Given the description of an element on the screen output the (x, y) to click on. 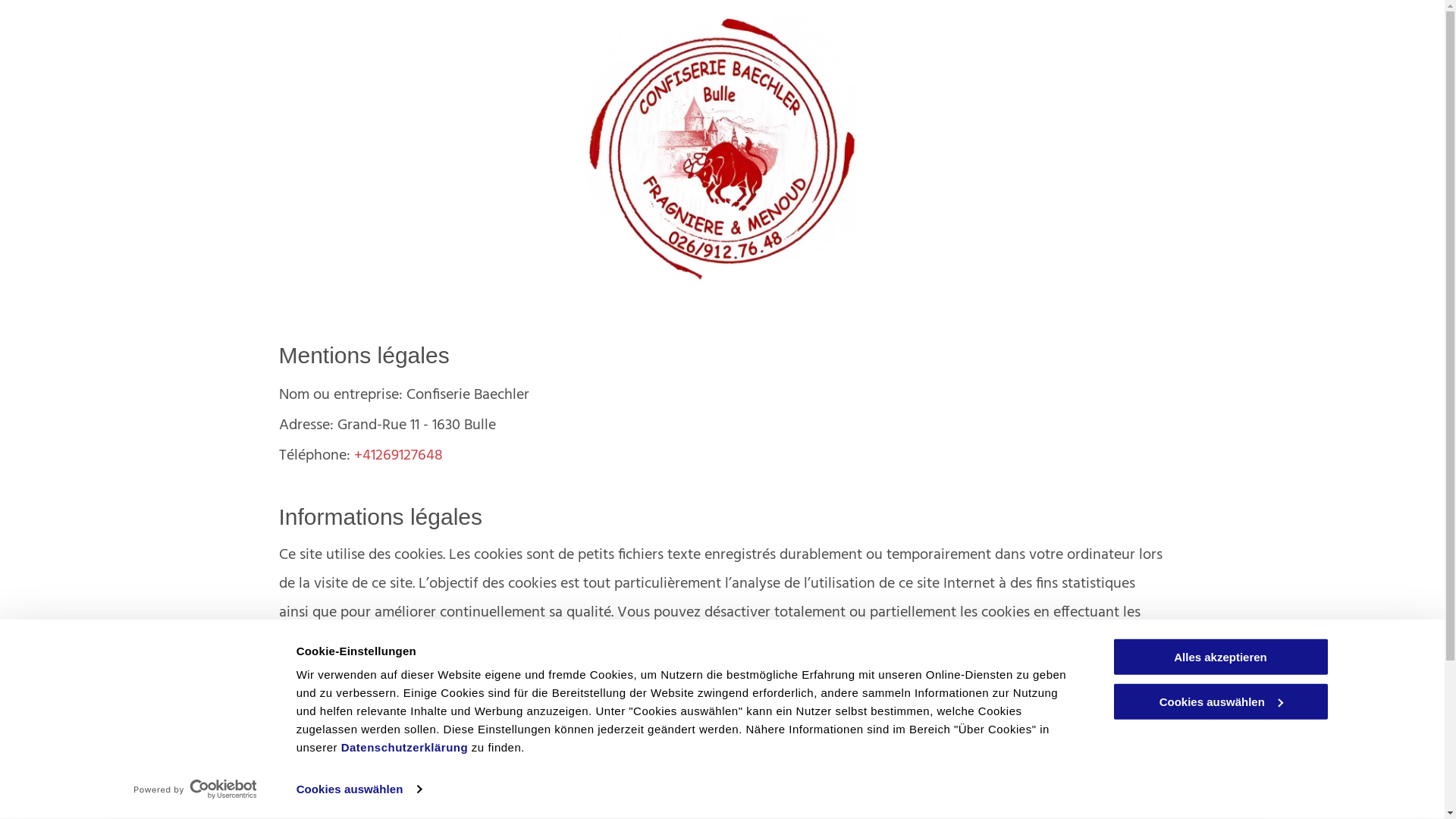
local.ch Element type: text (498, 745)
localsearch.ch Element type: text (444, 721)
Alles akzeptieren Element type: text (1219, 656)
+41269127648 Element type: text (397, 455)
search.ch Element type: text (503, 769)
